Given the description of an element on the screen output the (x, y) to click on. 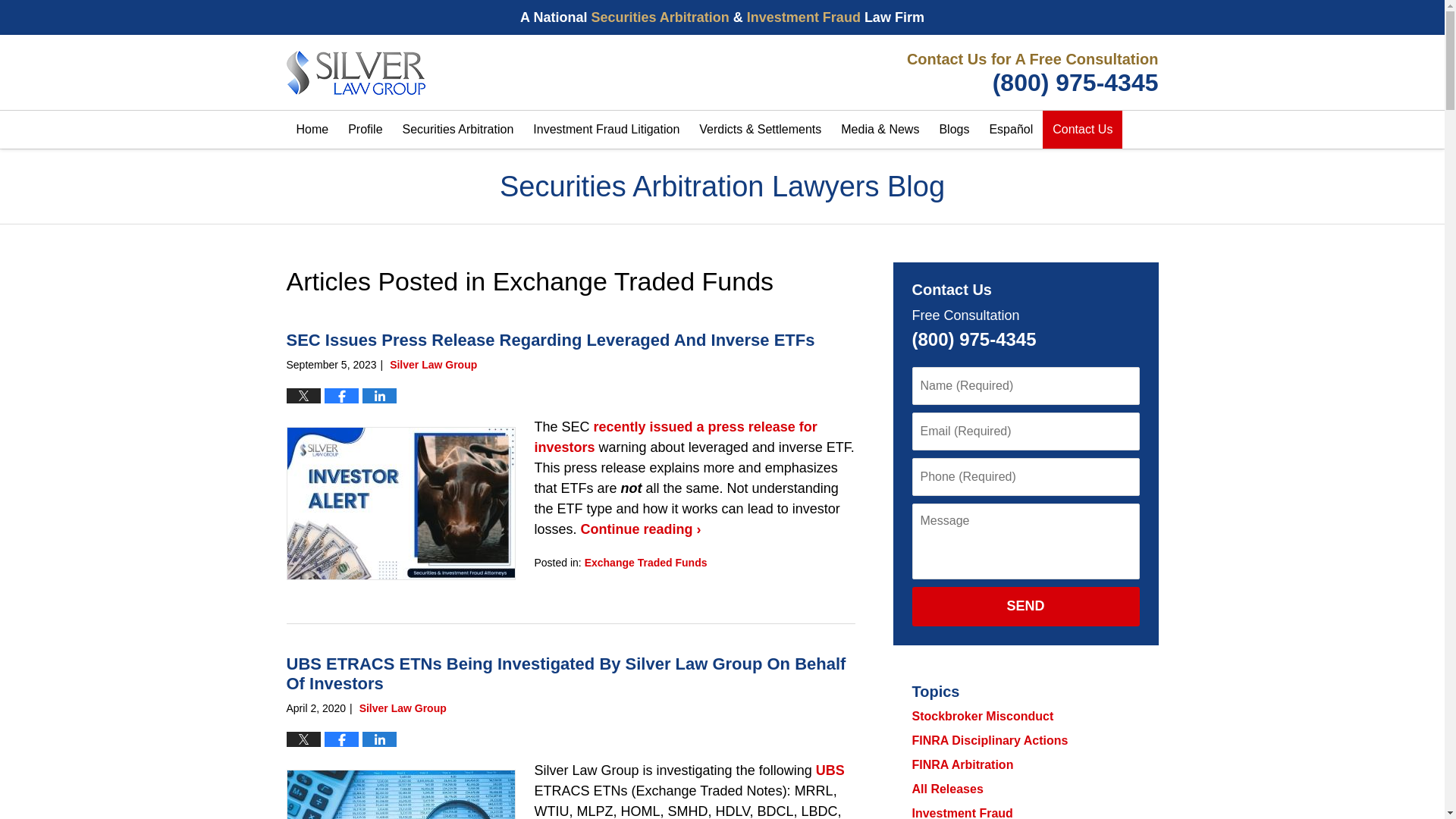
Investment Fraud Litigation (605, 129)
Blogs (953, 129)
Silver Law Group (1028, 72)
Profile (364, 129)
Home (312, 129)
Contact Us (1082, 129)
View all posts in Exchange Traded Funds (646, 562)
Securities Arbitration (458, 129)
Securities Arbitration Lawyers Blog (355, 72)
